Given the description of an element on the screen output the (x, y) to click on. 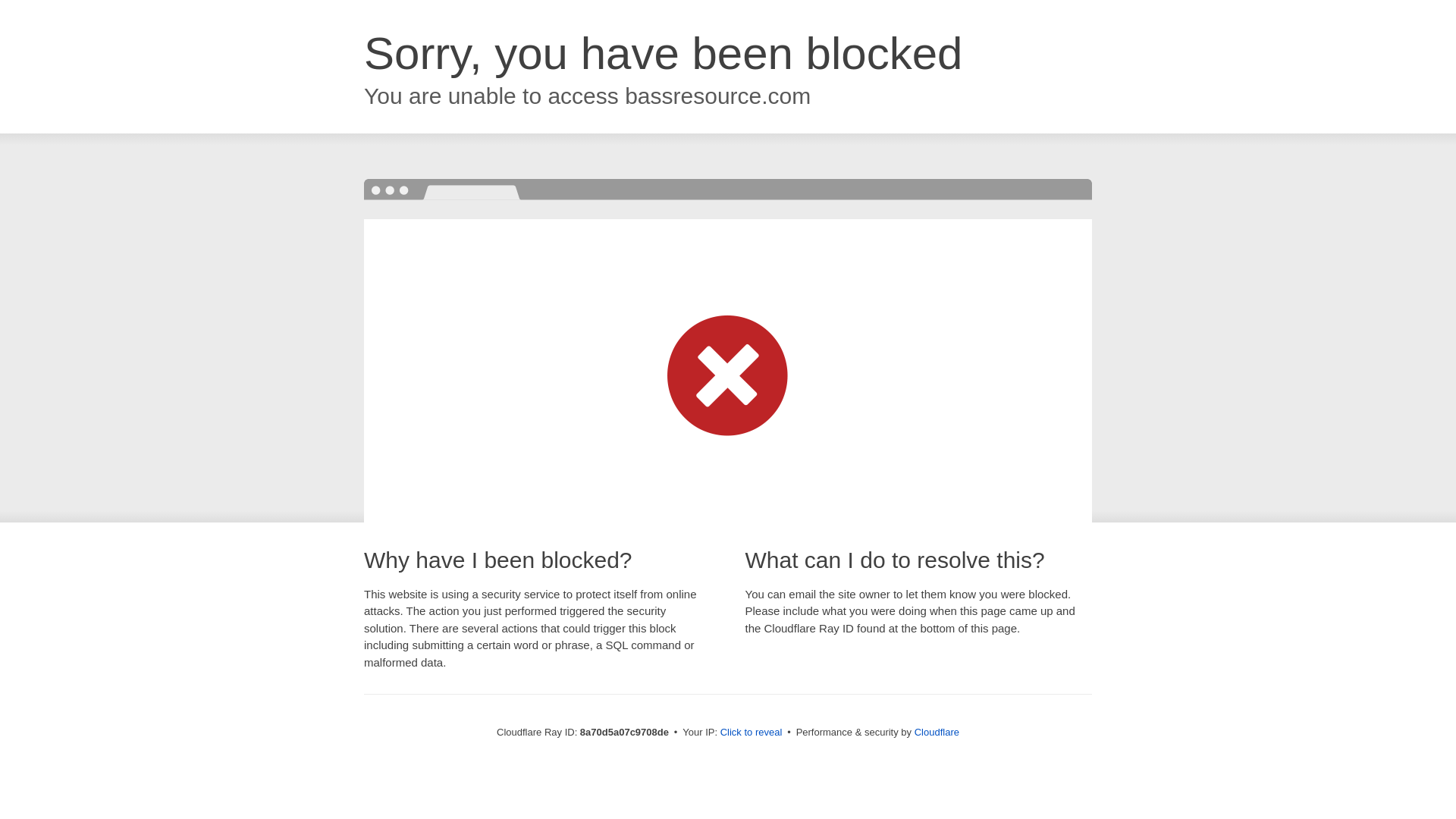
Click to reveal (751, 732)
Cloudflare (936, 731)
